Given the description of an element on the screen output the (x, y) to click on. 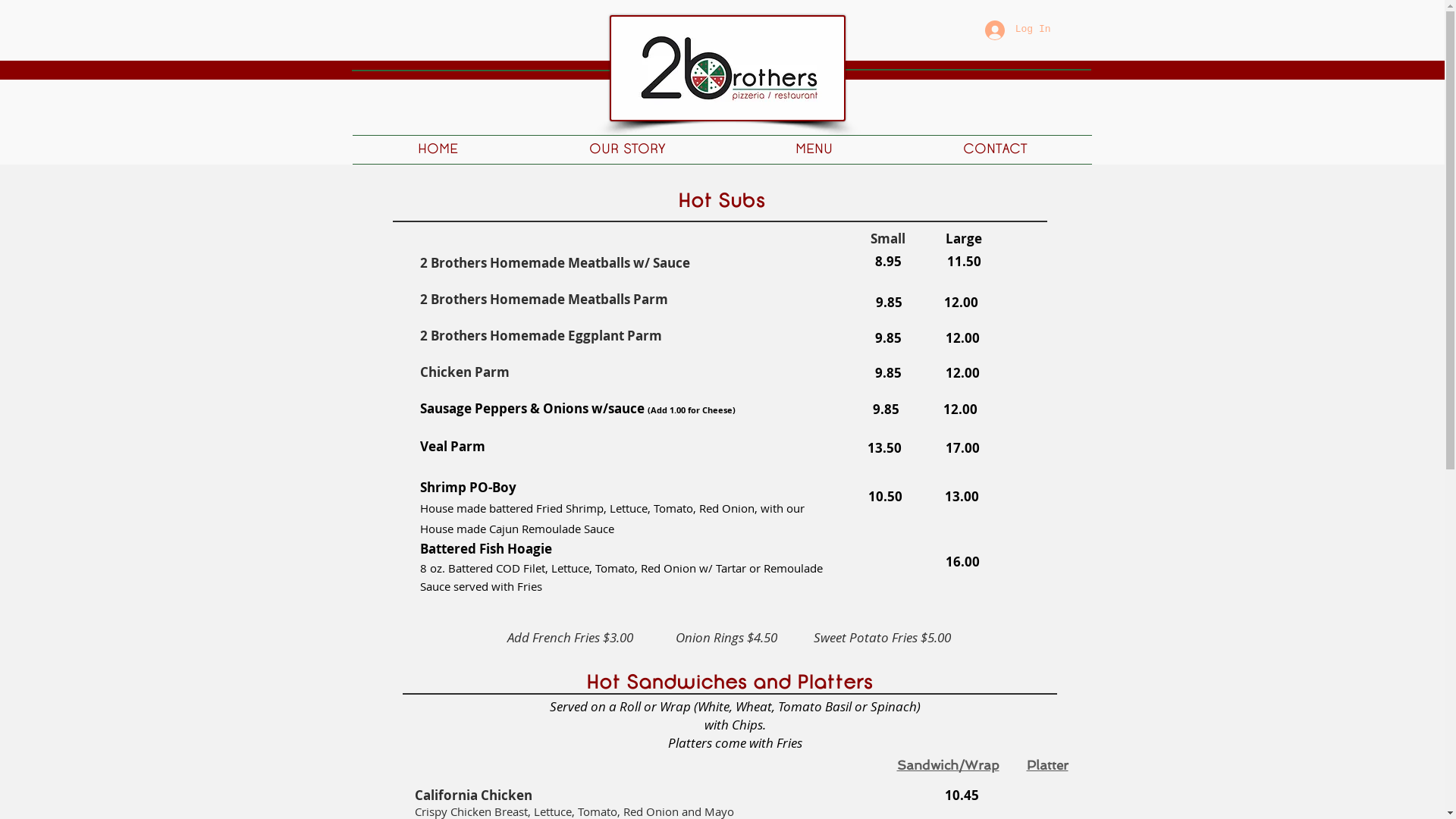
CONTACT Element type: text (994, 149)
OUR STORY Element type: text (626, 149)
HOME Element type: text (437, 149)
Log In Element type: text (1017, 29)
